Given the description of an element on the screen output the (x, y) to click on. 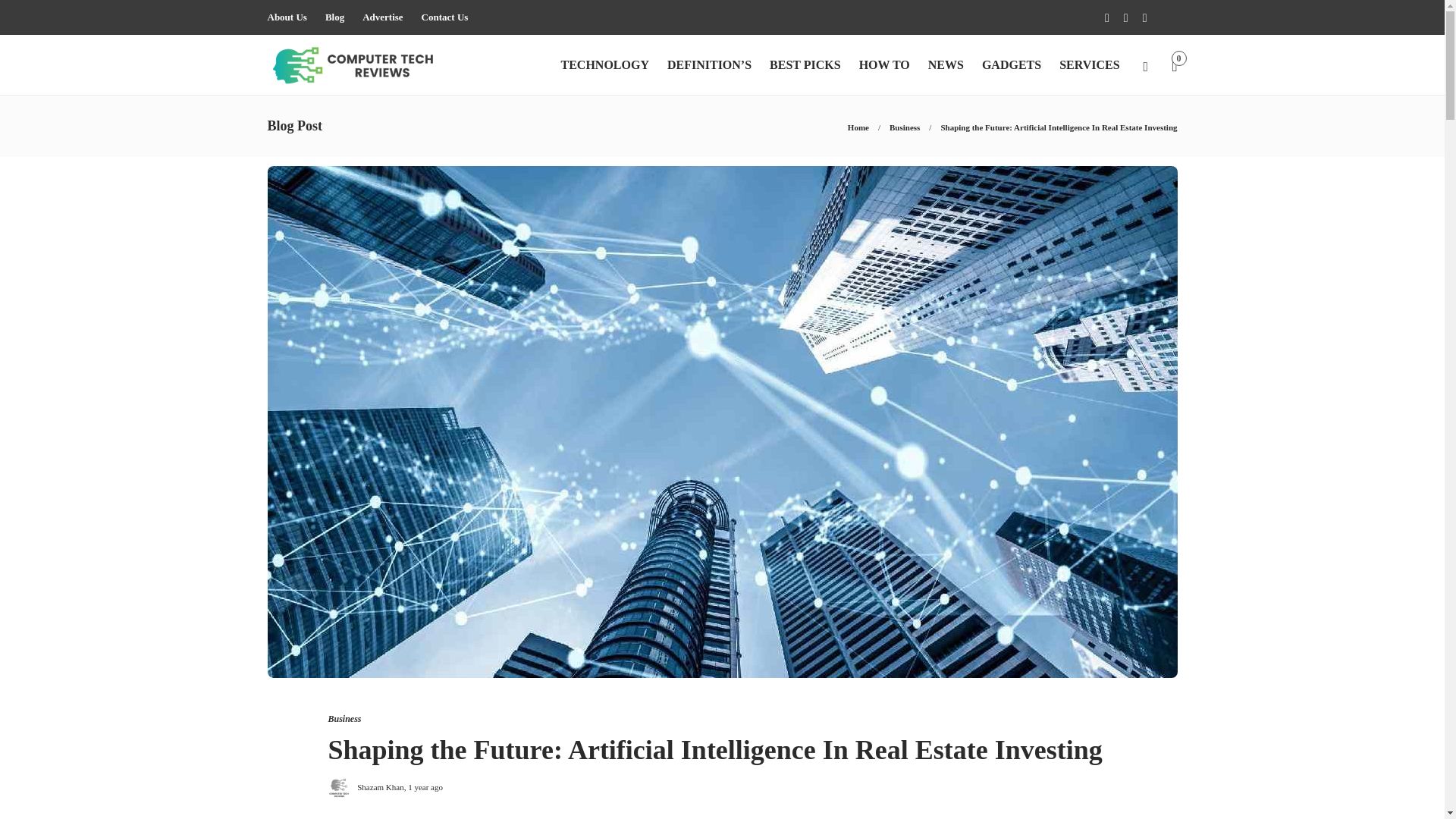
GADGETS (1011, 65)
TECHNOLOGY (603, 65)
Shazam Khan (379, 786)
SERVICES (1089, 65)
Advertise (382, 17)
Home (858, 126)
About Us (285, 17)
Business (344, 718)
1 year ago (424, 786)
